Given the description of an element on the screen output the (x, y) to click on. 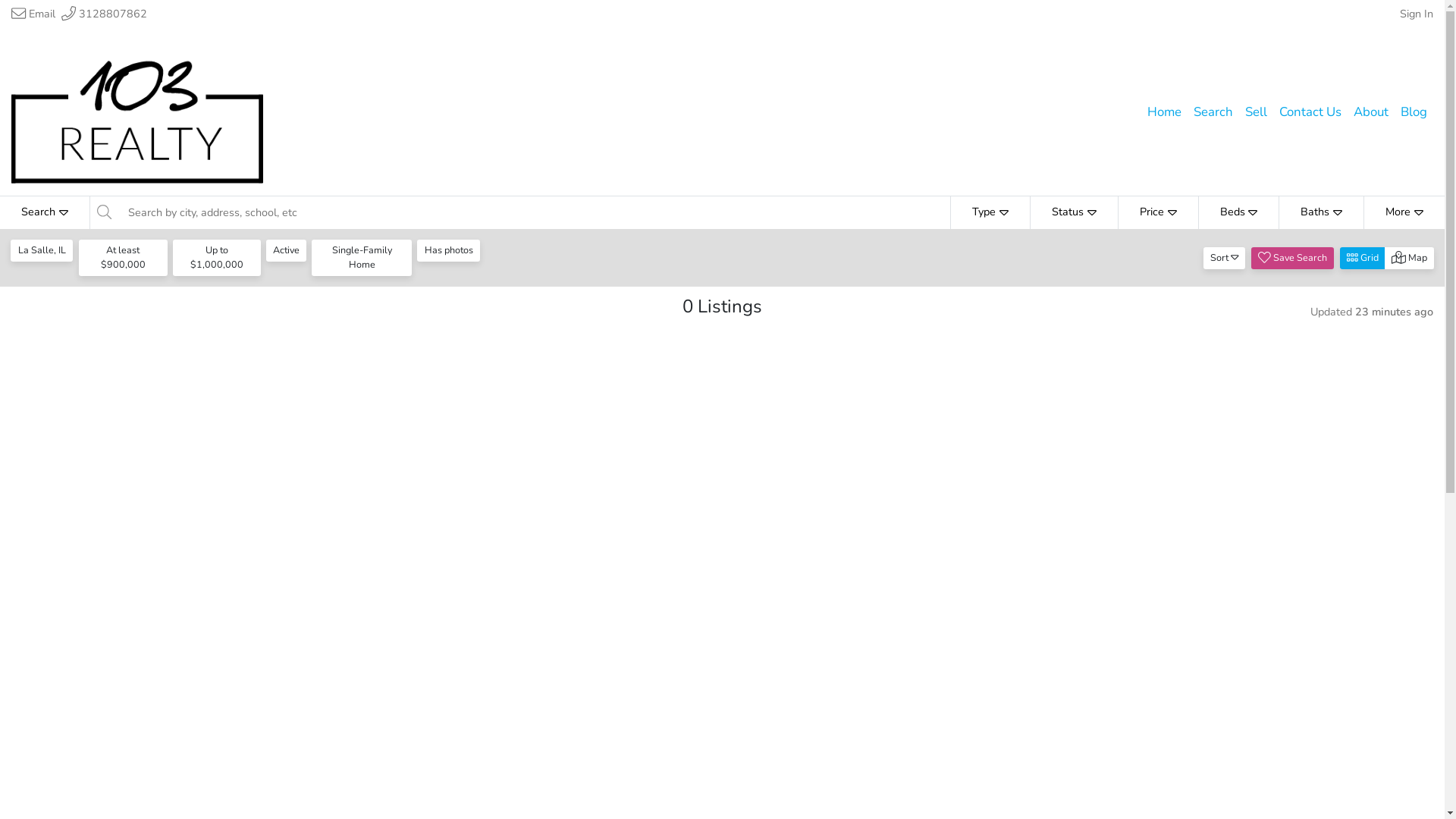
Search Element type: text (45, 212)
Save Search Element type: text (1292, 258)
Single-Family Home Element type: text (361, 257)
Type Element type: text (989, 212)
Home Element type: text (1164, 111)
More Element type: text (1403, 212)
Price Element type: text (1157, 212)
Contact Us Element type: text (1310, 111)
Has photos Element type: text (448, 250)
Sort Element type: text (1224, 258)
Sell Element type: text (1256, 111)
About Element type: text (1370, 111)
Search Element type: text (1213, 111)
Map Element type: text (1409, 258)
Baths Element type: text (1320, 212)
Active Element type: text (286, 250)
Sign In Element type: text (1416, 14)
Grid Element type: text (1362, 258)
Up to $1,000,000 Element type: text (216, 257)
3128807862 Element type: text (104, 14)
Beds Element type: text (1238, 212)
La Salle, IL Element type: text (41, 250)
Blog Element type: text (1413, 111)
Status Element type: text (1073, 212)
At least $900,000 Element type: text (122, 257)
Email Element type: text (33, 14)
